Given the description of an element on the screen output the (x, y) to click on. 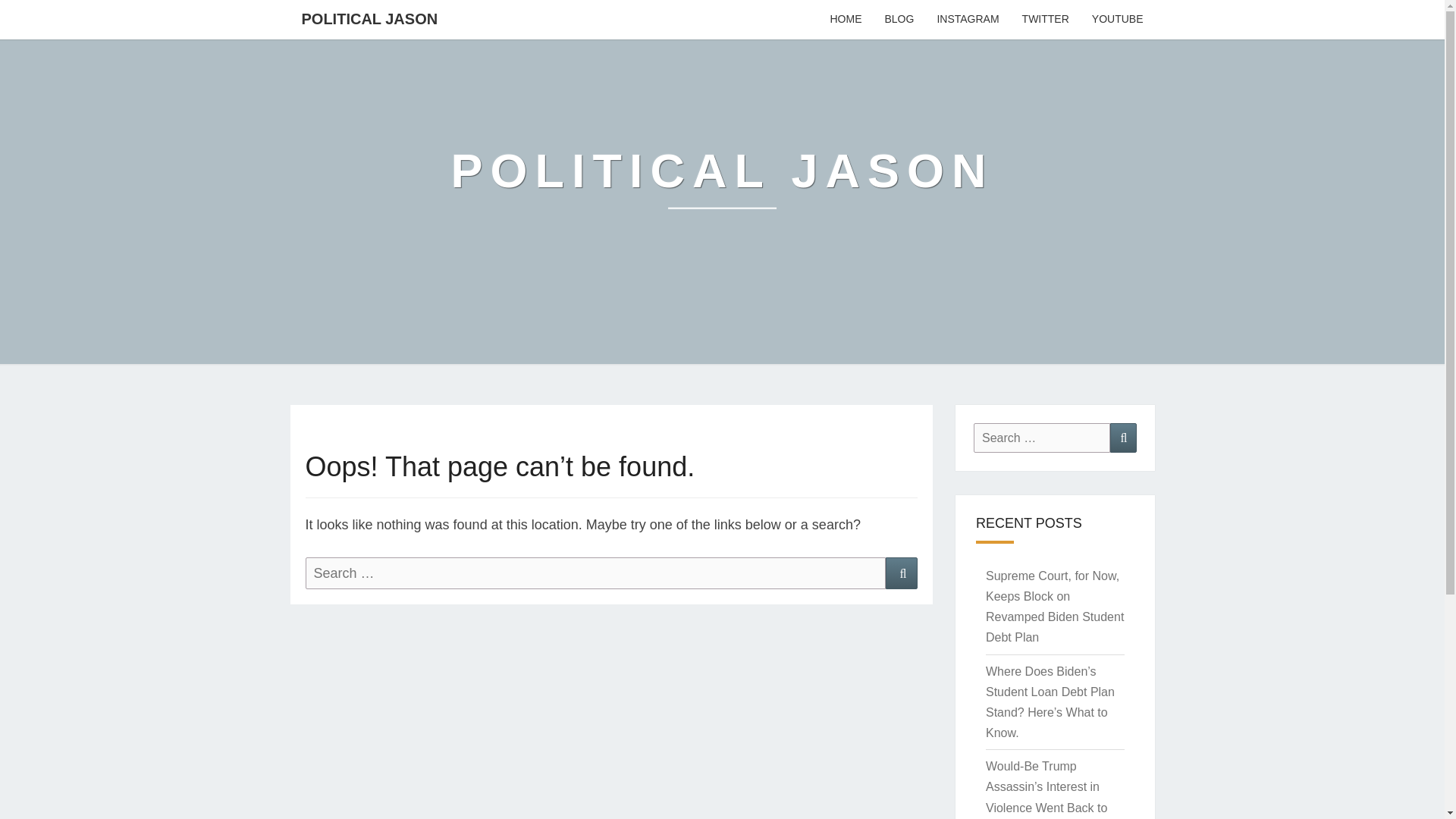
YOUTUBE (1117, 19)
Search (1123, 437)
Political Jason (722, 181)
TWITTER (1045, 19)
POLITICAL JASON (368, 18)
Search for: (1041, 437)
BLOG (898, 19)
POLITICAL JASON (722, 181)
HOME (845, 19)
Search for: (594, 573)
